Given the description of an element on the screen output the (x, y) to click on. 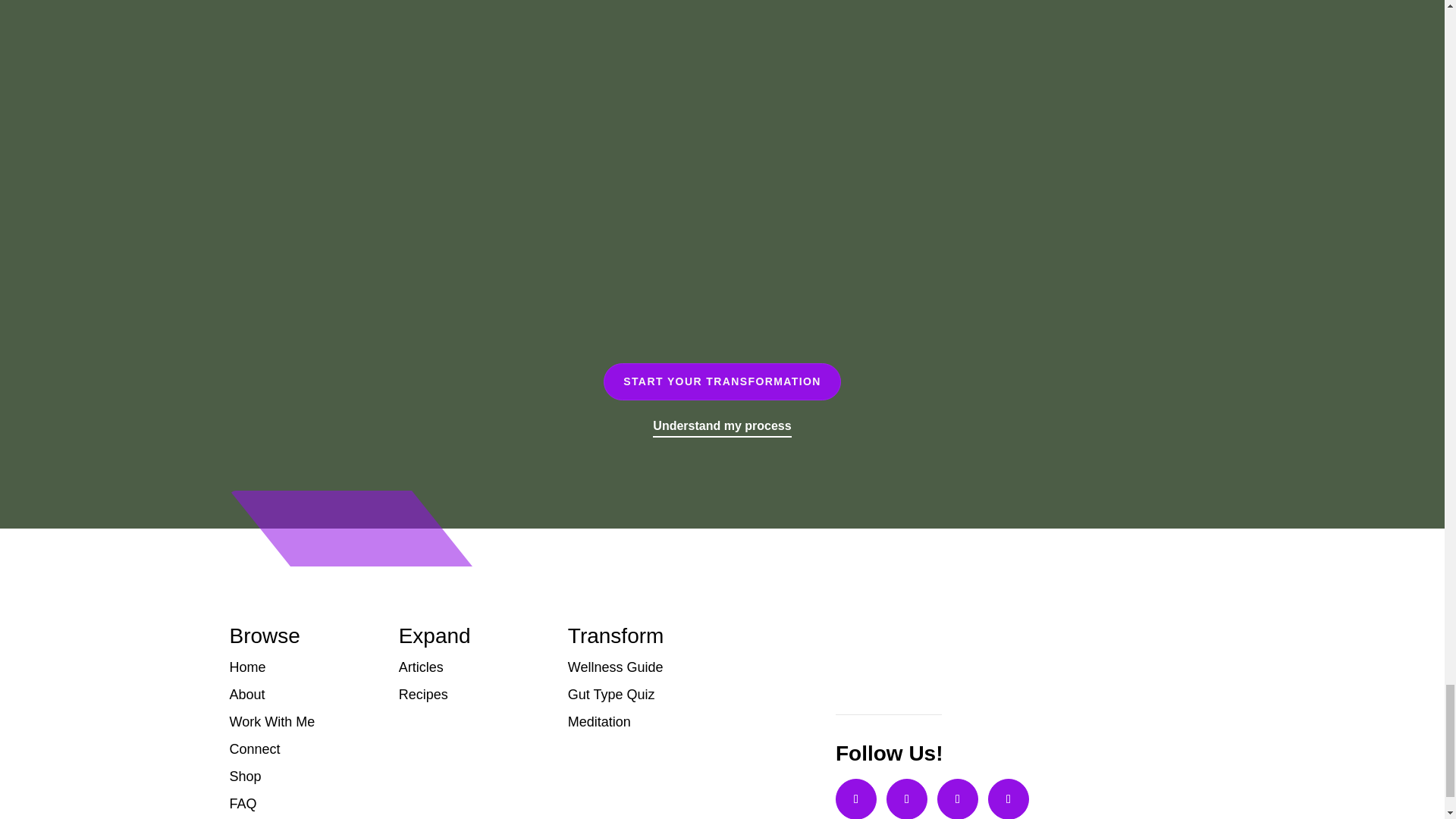
START YOUR TRANSFORMATION (722, 382)
Meditation (637, 721)
Black butterfly (882, 666)
Articles (468, 666)
Follow on Instagram (855, 798)
Recipes (468, 694)
About (298, 694)
Shop (298, 776)
Follow on Facebook (1008, 798)
Connect (298, 748)
Gut Type Quiz (637, 694)
Wellness Guide (637, 666)
Follow on Pinterest (906, 798)
FAQ (298, 803)
